Given the description of an element on the screen output the (x, y) to click on. 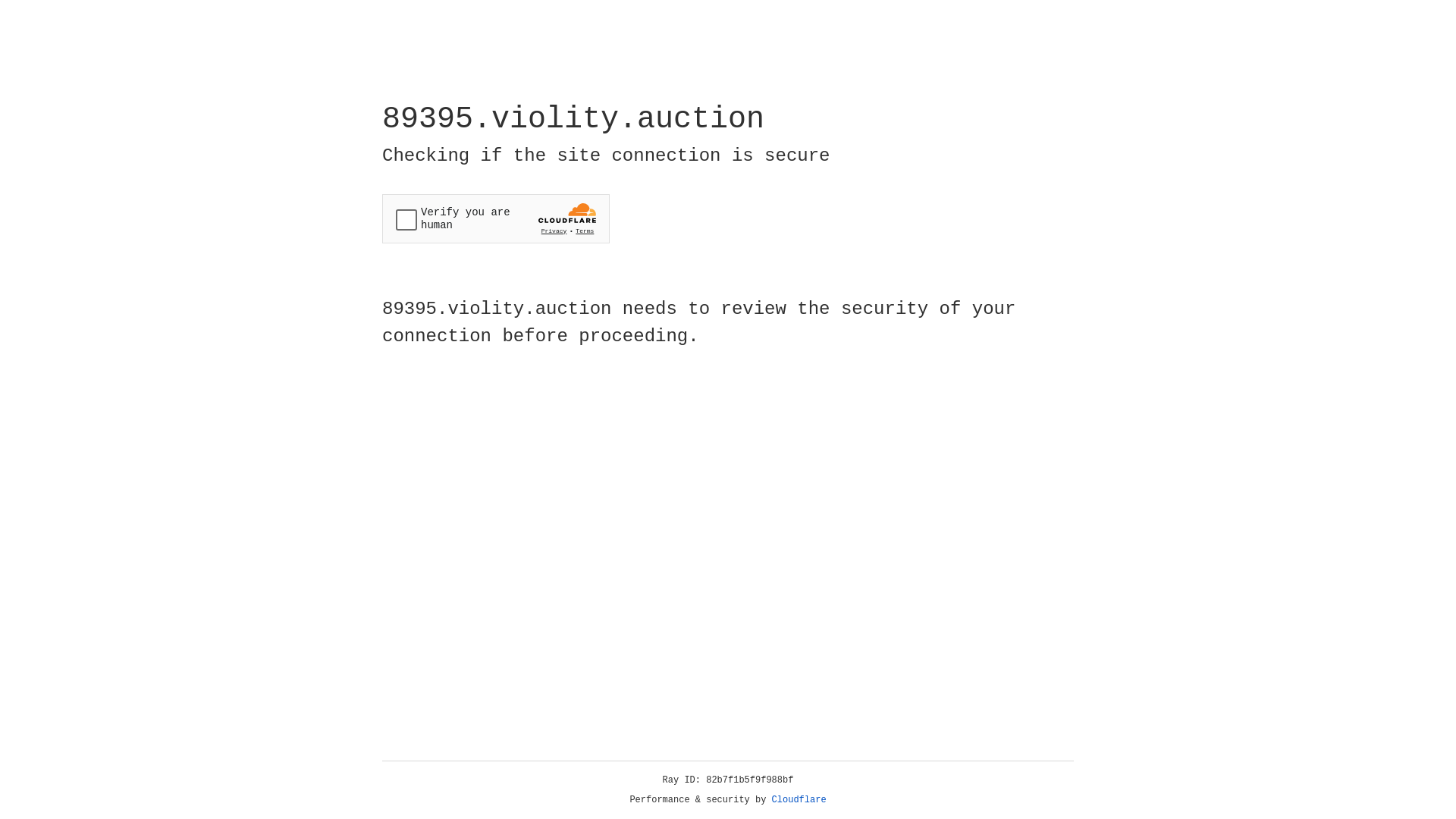
Cloudflare Element type: text (798, 799)
Widget containing a Cloudflare security challenge Element type: hover (495, 218)
